Given the description of an element on the screen output the (x, y) to click on. 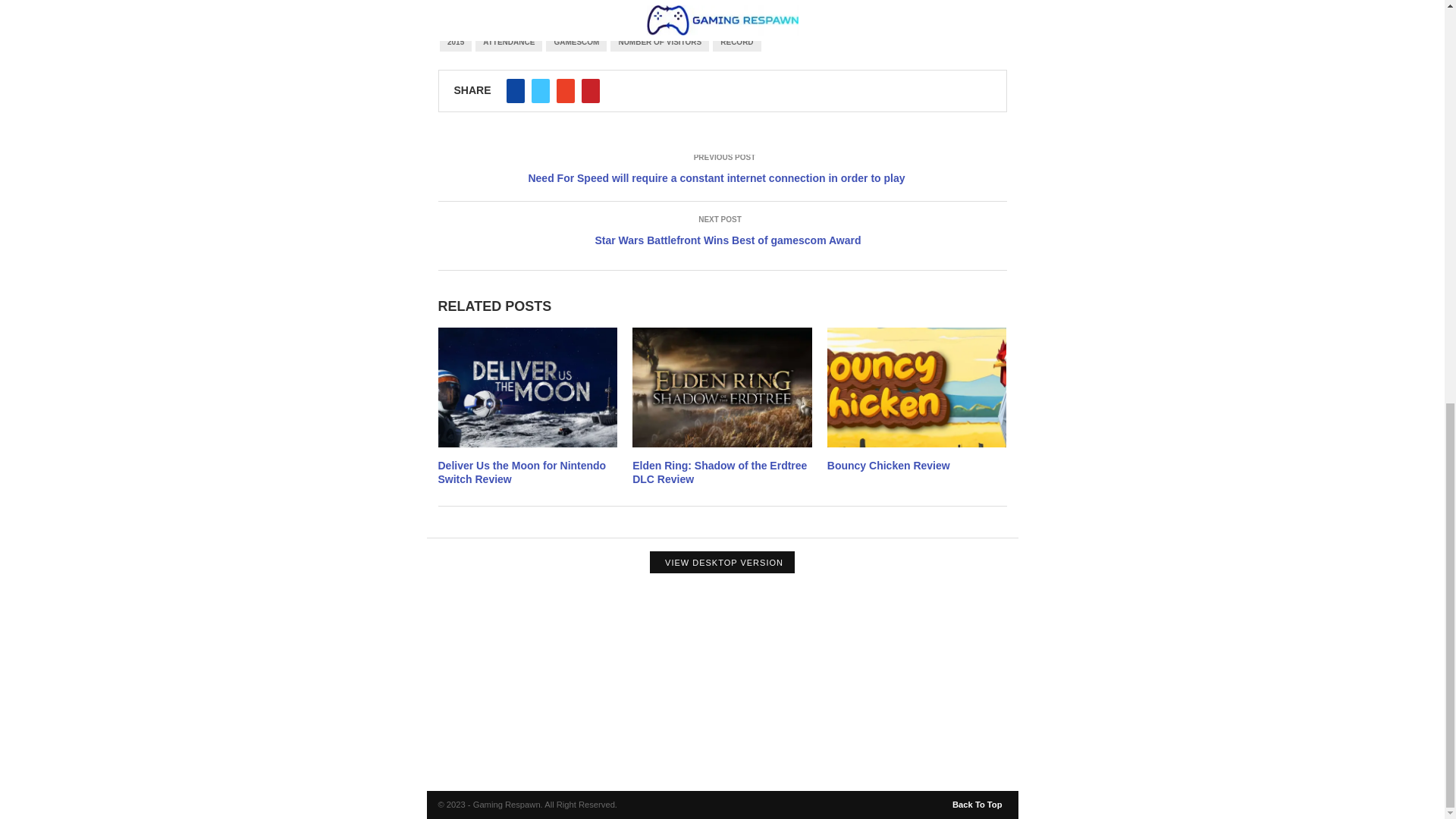
Star Wars Battlefront Wins Best of gamescom Award (722, 240)
Bouncy Chicken Review (888, 465)
2015 (455, 42)
NUMBER OF VISITORS (659, 42)
RECORD (736, 42)
VIEW DESKTOP VERSION (721, 562)
ATTENDANCE (508, 42)
Deliver Us the Moon for Nintendo Switch Review (522, 472)
Back To Top (979, 801)
3rd party ad content (721, 687)
Elden Ring: Shadow of the Erdtree DLC Review (718, 472)
GAMESCOM (576, 42)
